Given the description of an element on the screen output the (x, y) to click on. 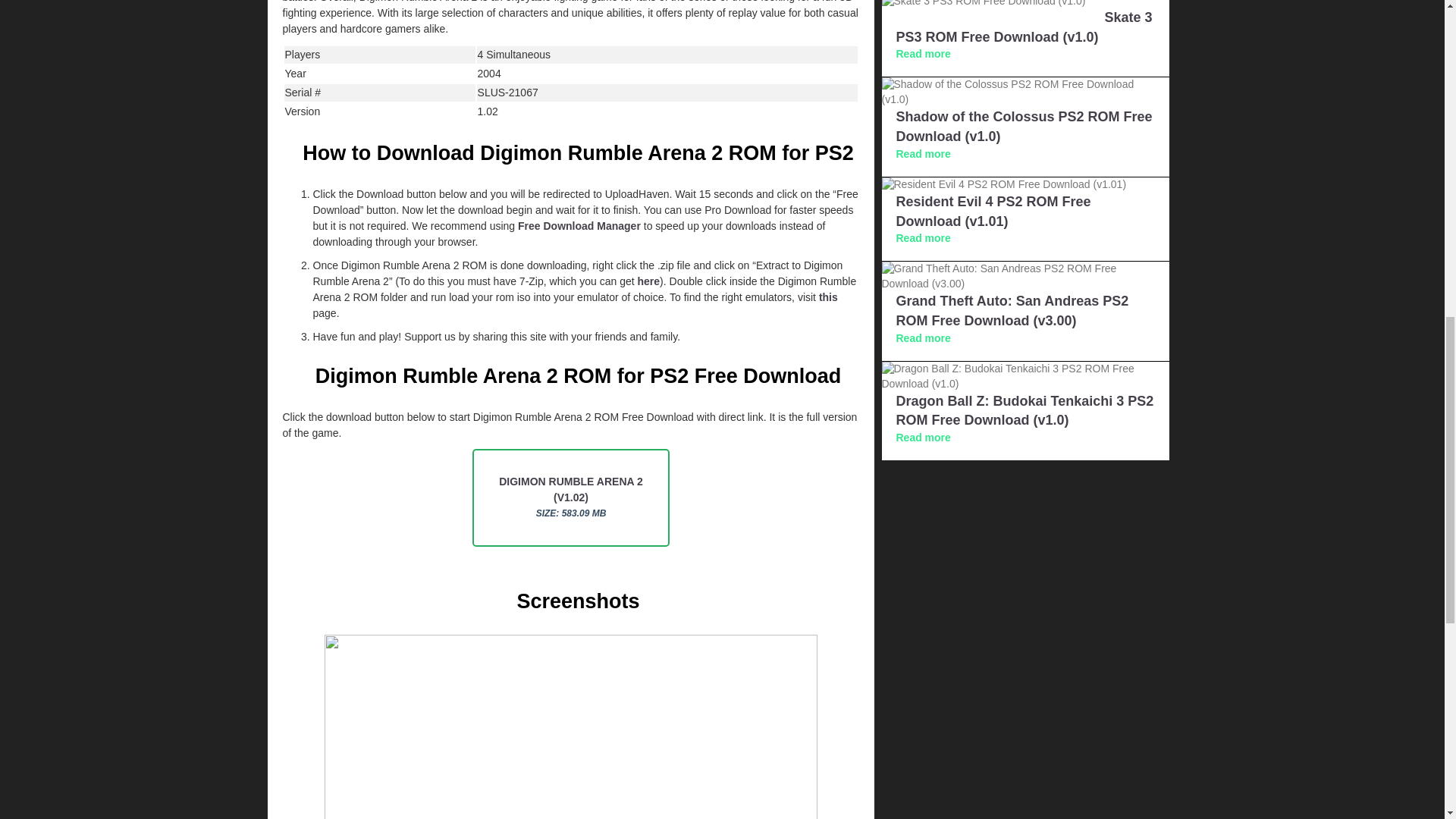
Read more (923, 237)
this (828, 297)
Read more (923, 153)
Read more (923, 337)
Free Download Manager (579, 225)
Read more (923, 53)
here (648, 281)
